Given the description of an element on the screen output the (x, y) to click on. 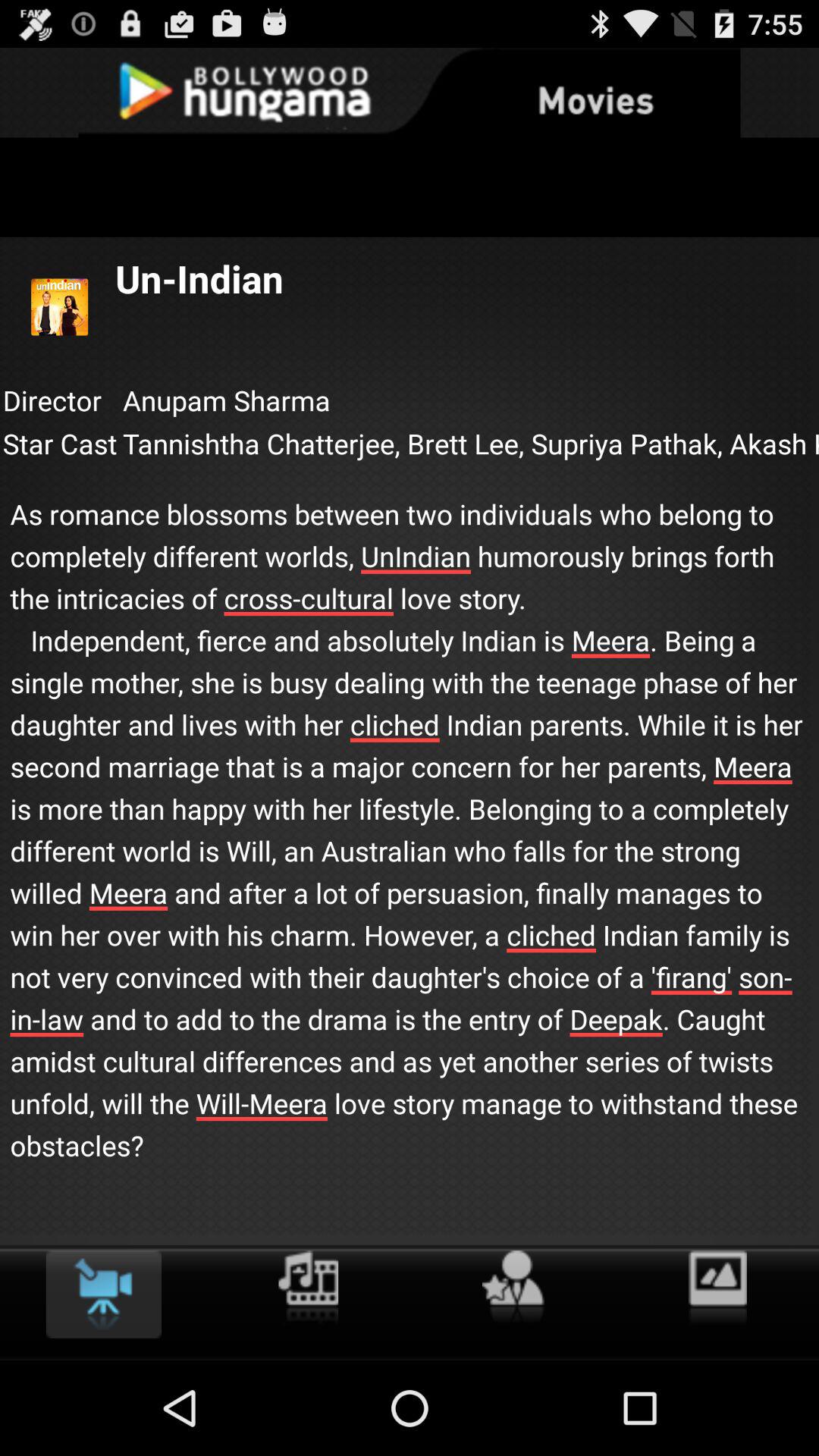
turn off the item below as romance blossoms (307, 1287)
